Given the description of an element on the screen output the (x, y) to click on. 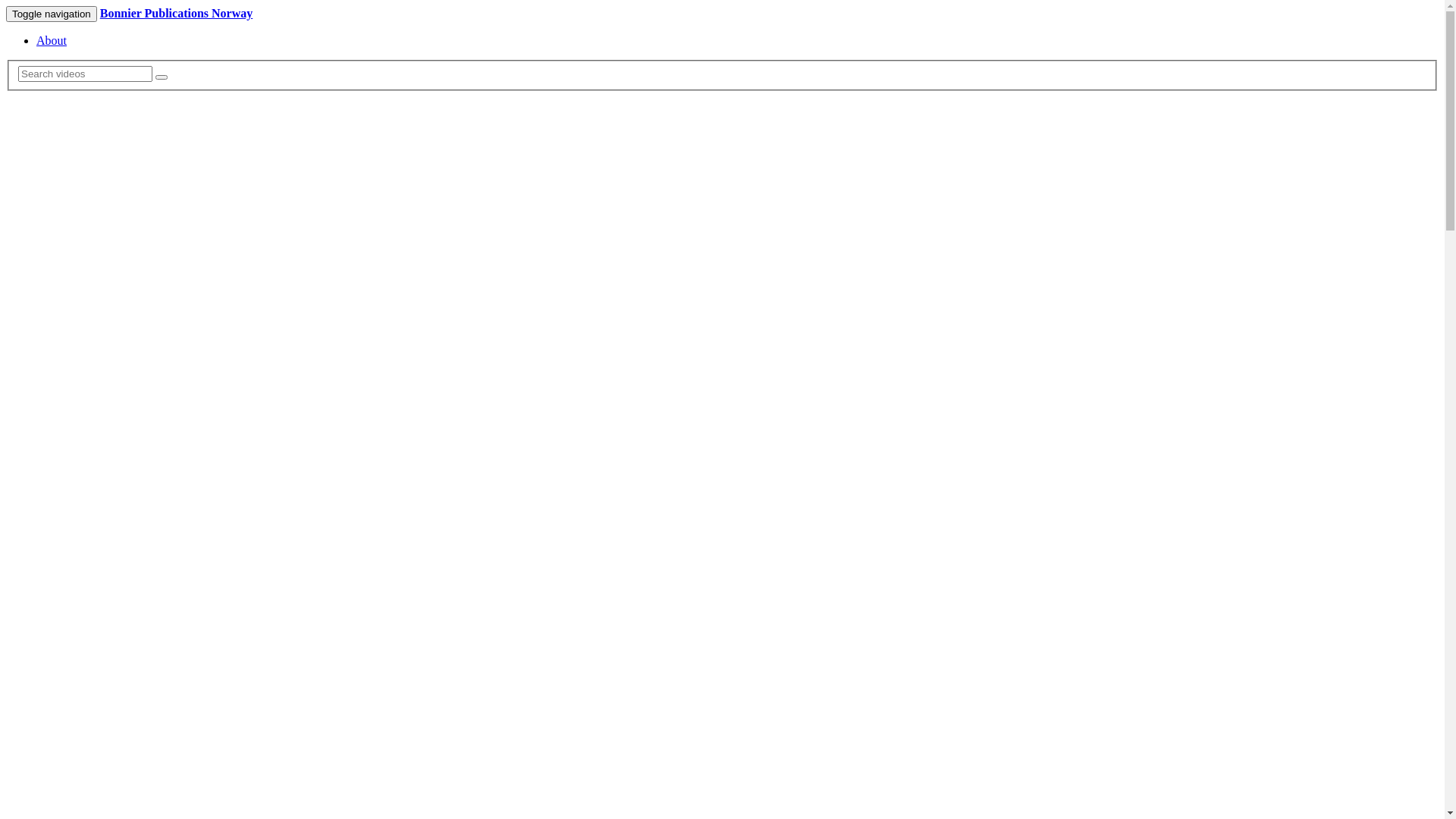
About Element type: text (51, 40)
Toggle navigation Element type: text (51, 13)
Bonnier Publications Norway Element type: text (176, 12)
